Given the description of an element on the screen output the (x, y) to click on. 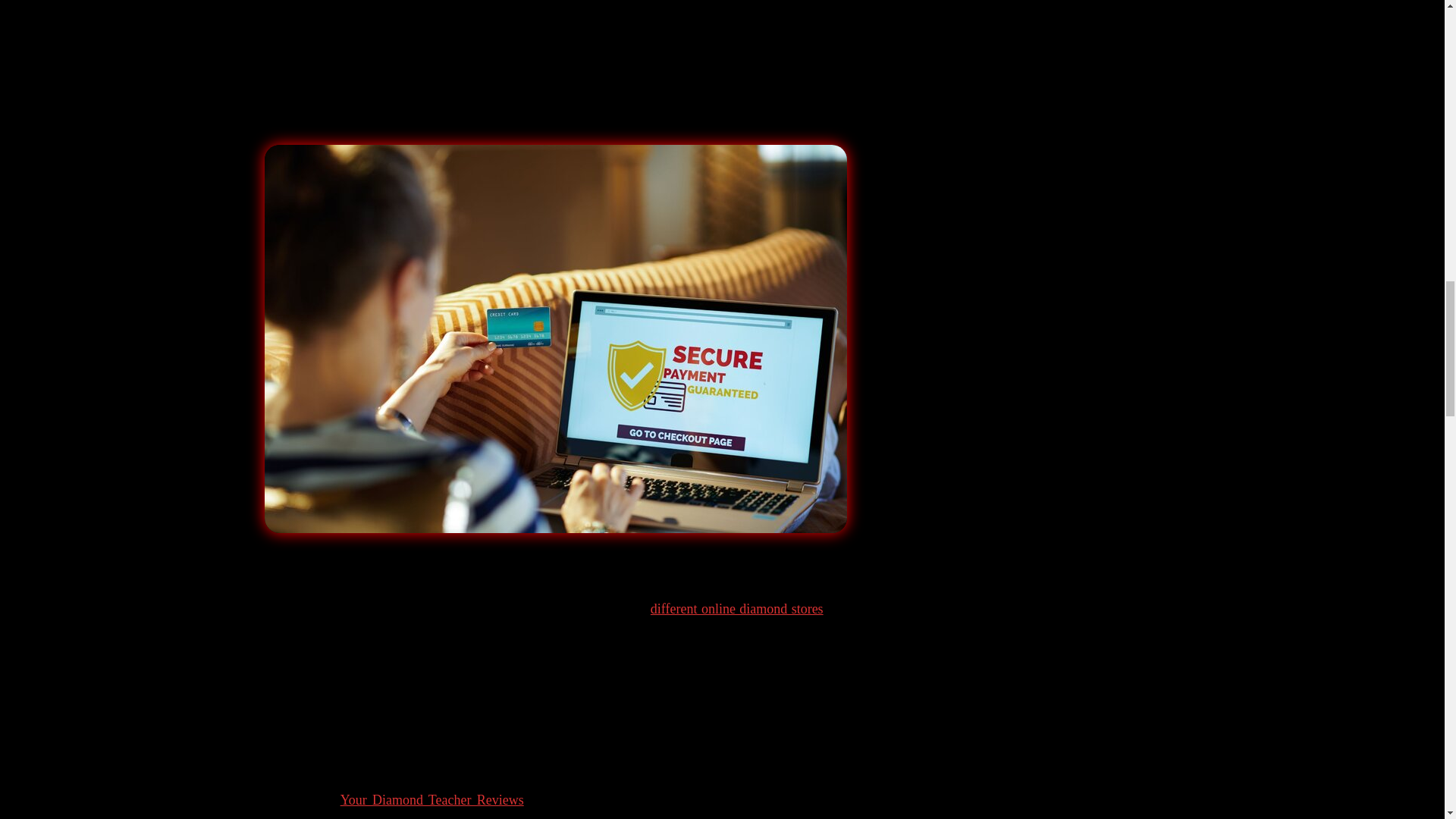
Your Diamond Teacher Reviews (432, 799)
different online diamond stores (737, 608)
